Given the description of an element on the screen output the (x, y) to click on. 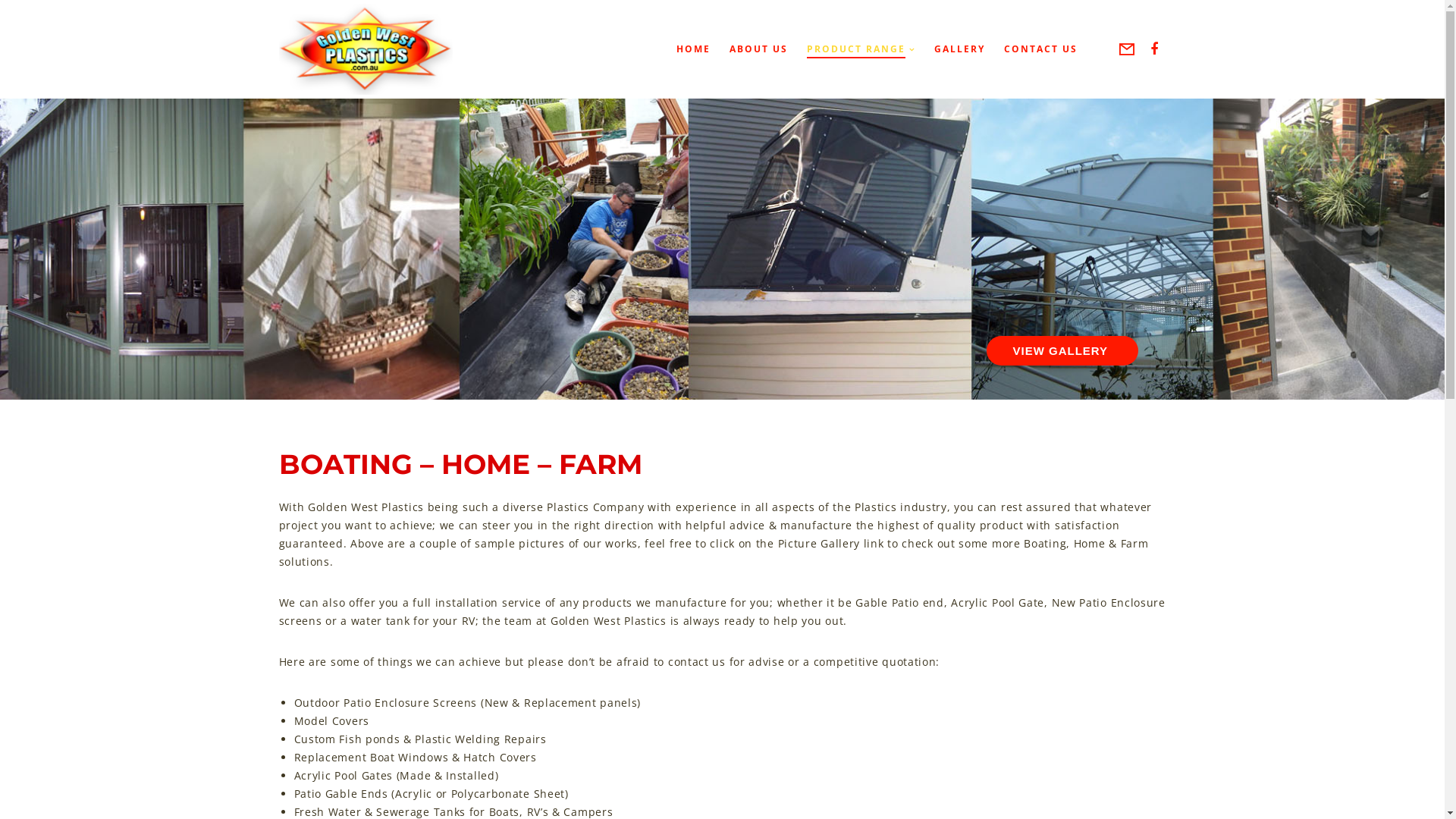
HOME Element type: text (683, 49)
ABOUT US Element type: text (748, 49)
CONTACT US Element type: text (1031, 49)
GALLERY Element type: text (950, 49)
PRODUCT RANGE Element type: text (851, 49)
